Given the description of an element on the screen output the (x, y) to click on. 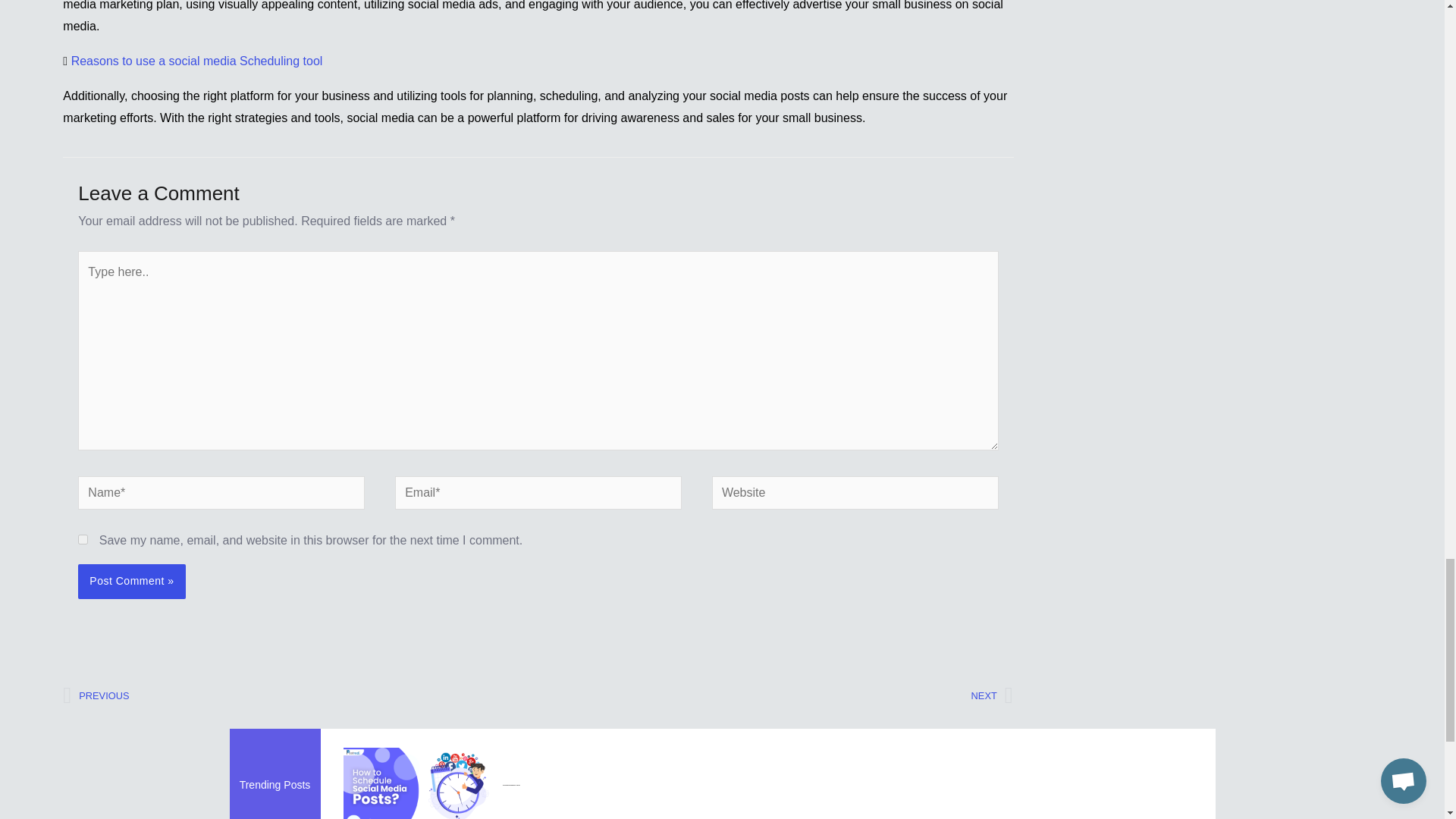
Reasons to use a social media Scheduling tool (197, 60)
yes (775, 695)
